Given the description of an element on the screen output the (x, y) to click on. 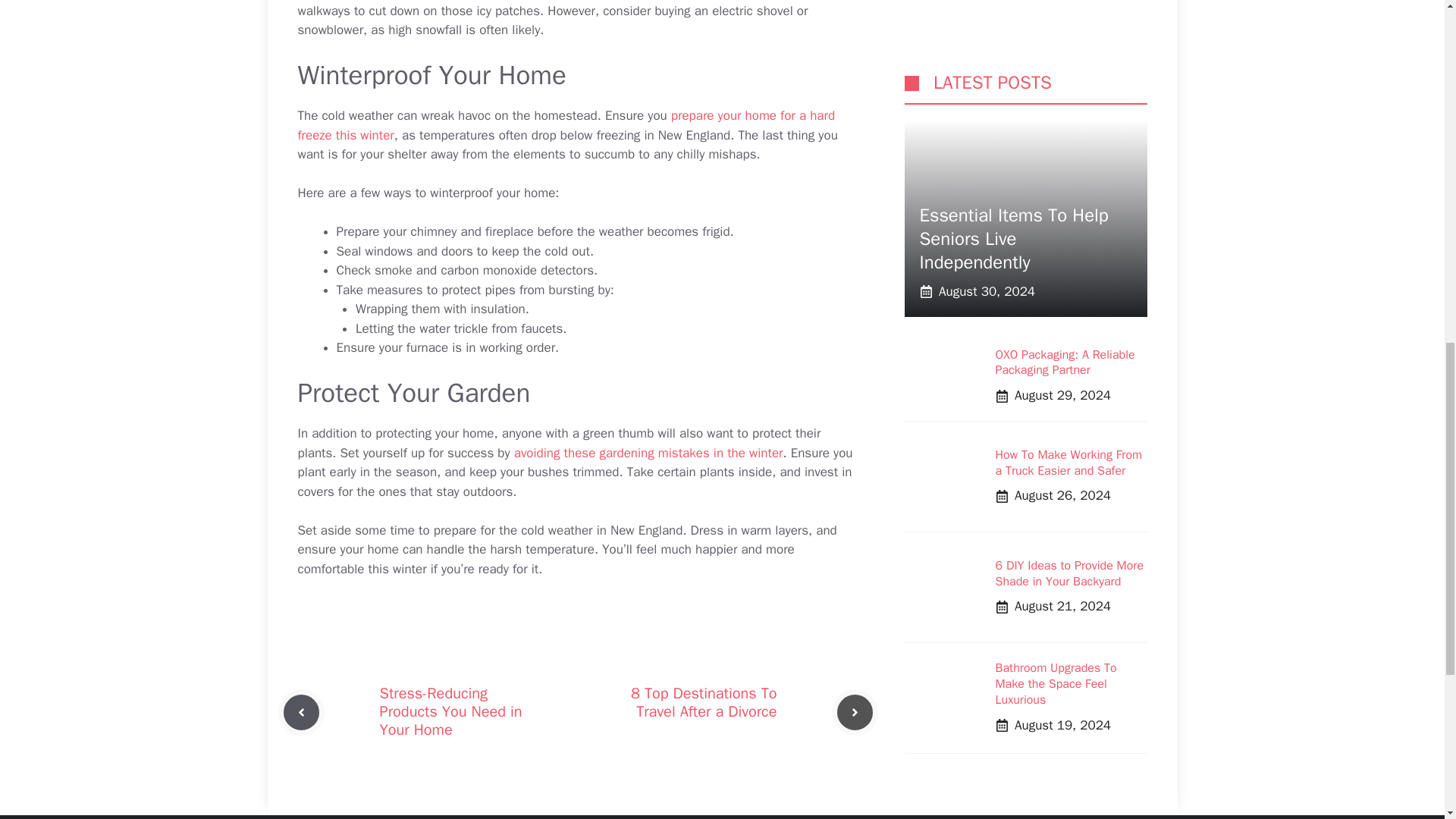
8 Top Destinations To Travel After a Divorce (703, 702)
Bathroom Upgrades To Make the Space Feel Luxurious (1055, 229)
avoiding these gardening mistakes in the winter (648, 453)
How To Make Working From a Truck Easier and Safer (1067, 12)
prepare your home for a hard freeze this winter (565, 125)
6 DIY Ideas to Provide More Shade in Your Backyard (1068, 119)
Scroll back to top (1406, 720)
Stress-Reducing Products You Need in Your Home (449, 711)
